Given the description of an element on the screen output the (x, y) to click on. 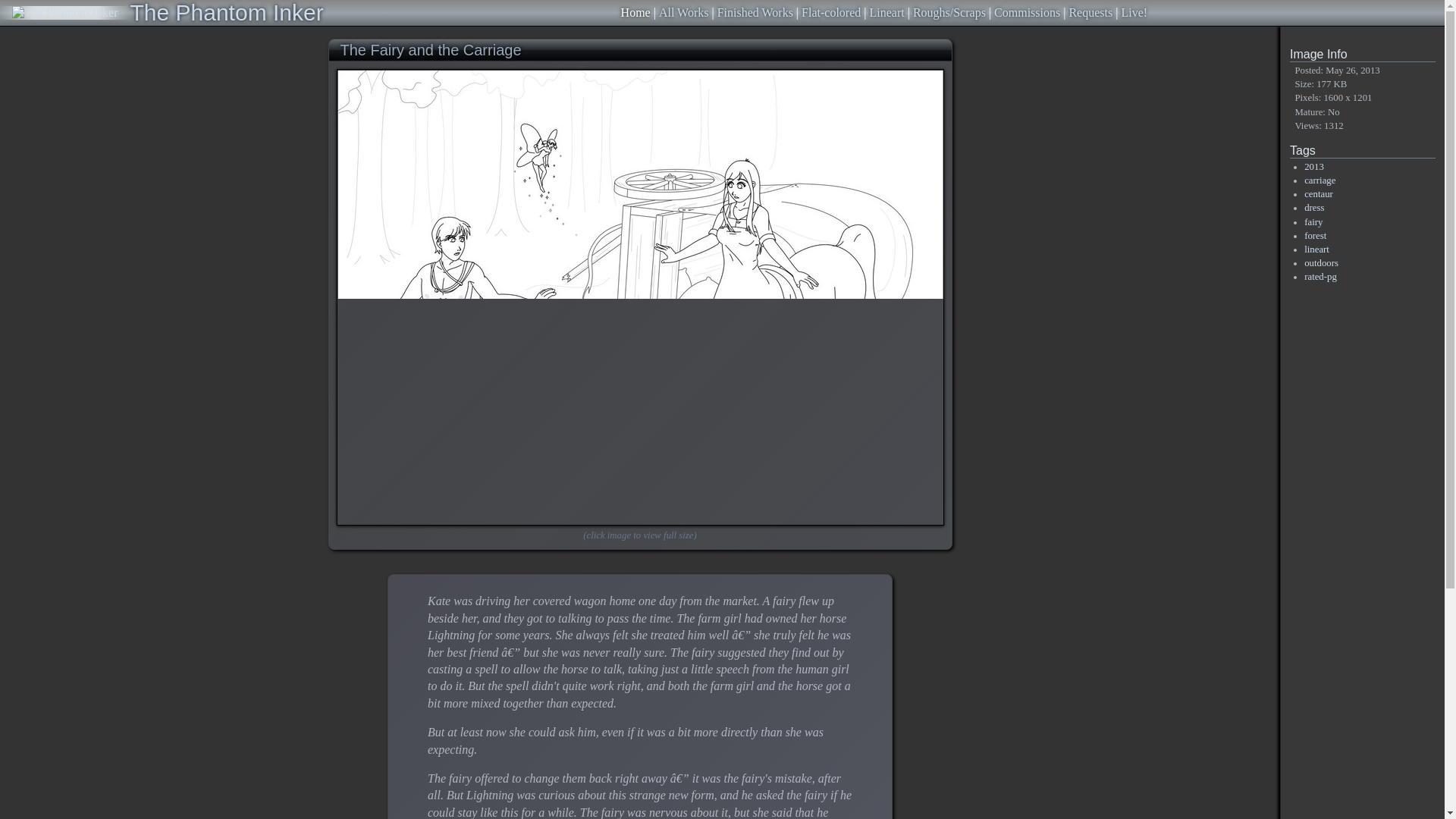
lineart (1316, 249)
All Works (684, 12)
Finished Works (755, 12)
forest (1315, 235)
outdoors (1321, 262)
Commissions (1026, 12)
carriage (1319, 180)
Lineart (886, 12)
rated-pg (1320, 276)
